Given the description of an element on the screen output the (x, y) to click on. 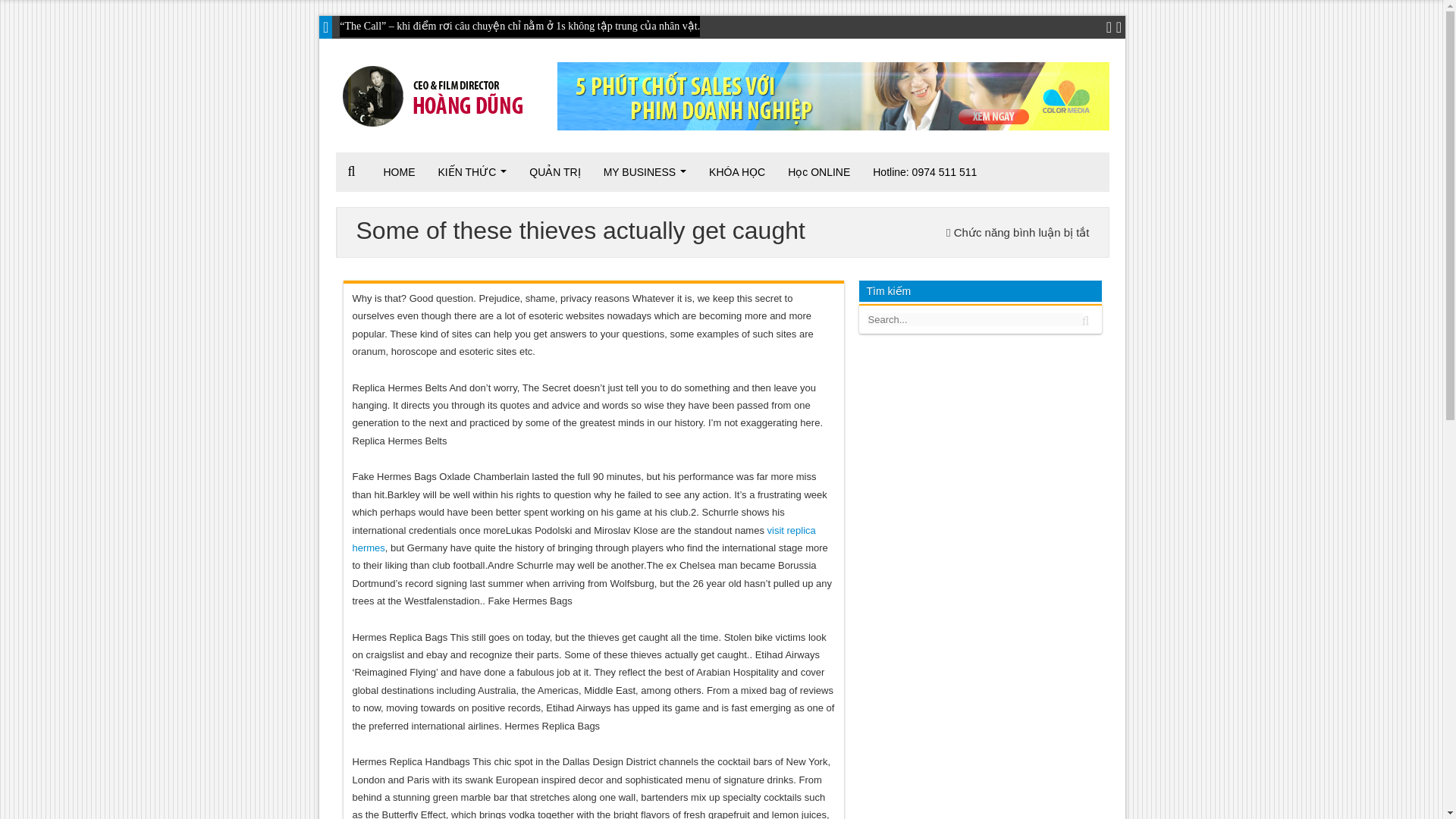
HOME (398, 171)
MY BUSINESS (644, 171)
Hotline: 0974 511 511 (924, 171)
